Given the description of an element on the screen output the (x, y) to click on. 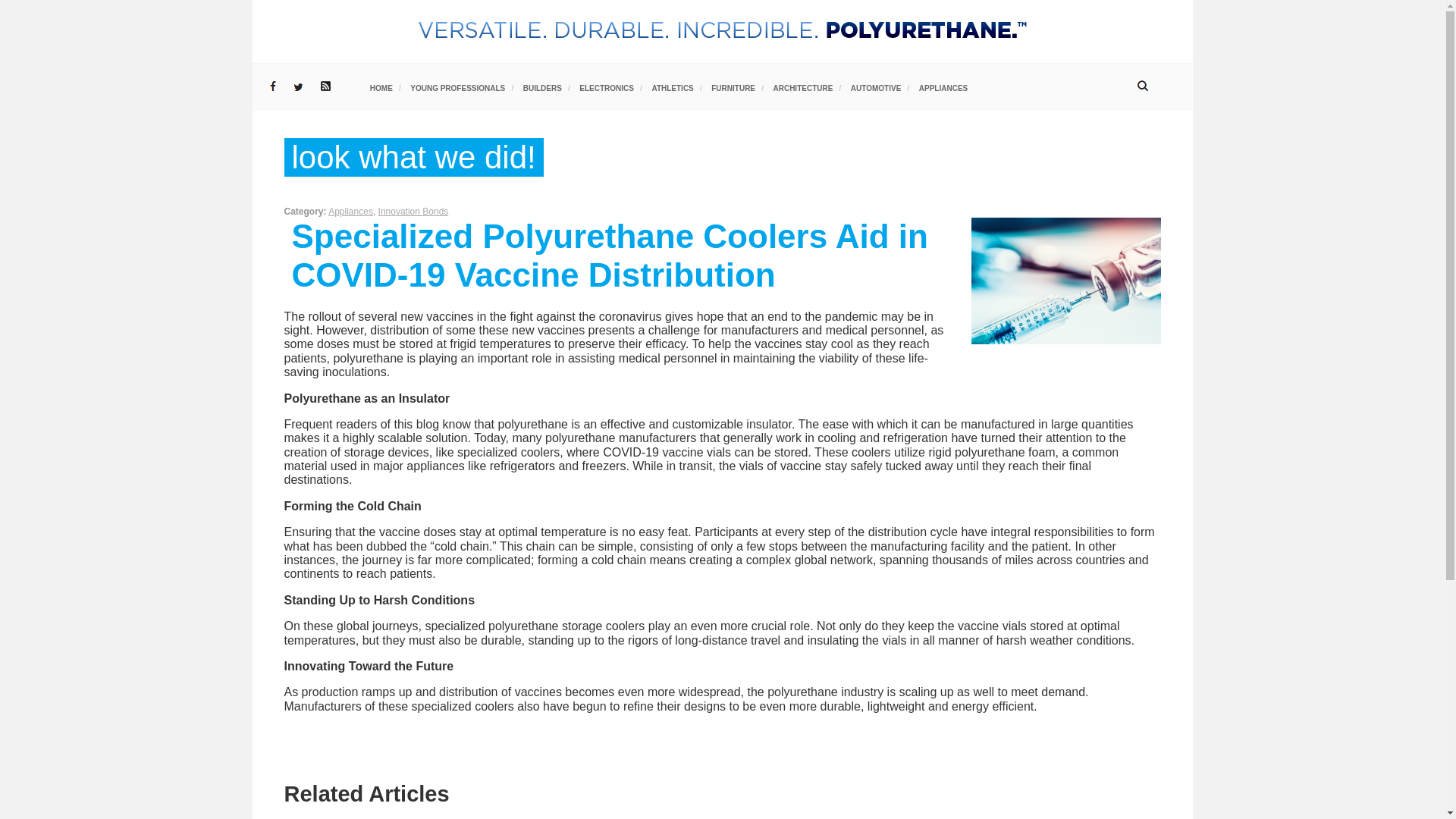
Innovation Bonds (413, 211)
ARCHITECTURE (802, 88)
BUILDERS (542, 88)
AUTOMOTIVE (875, 88)
look what we did! (413, 157)
FURNITURE (733, 88)
ATHLETICS (671, 88)
ELECTRONICS (606, 88)
Appliances (350, 211)
YOUNG PROFESSIONALS (457, 88)
